Given the description of an element on the screen output the (x, y) to click on. 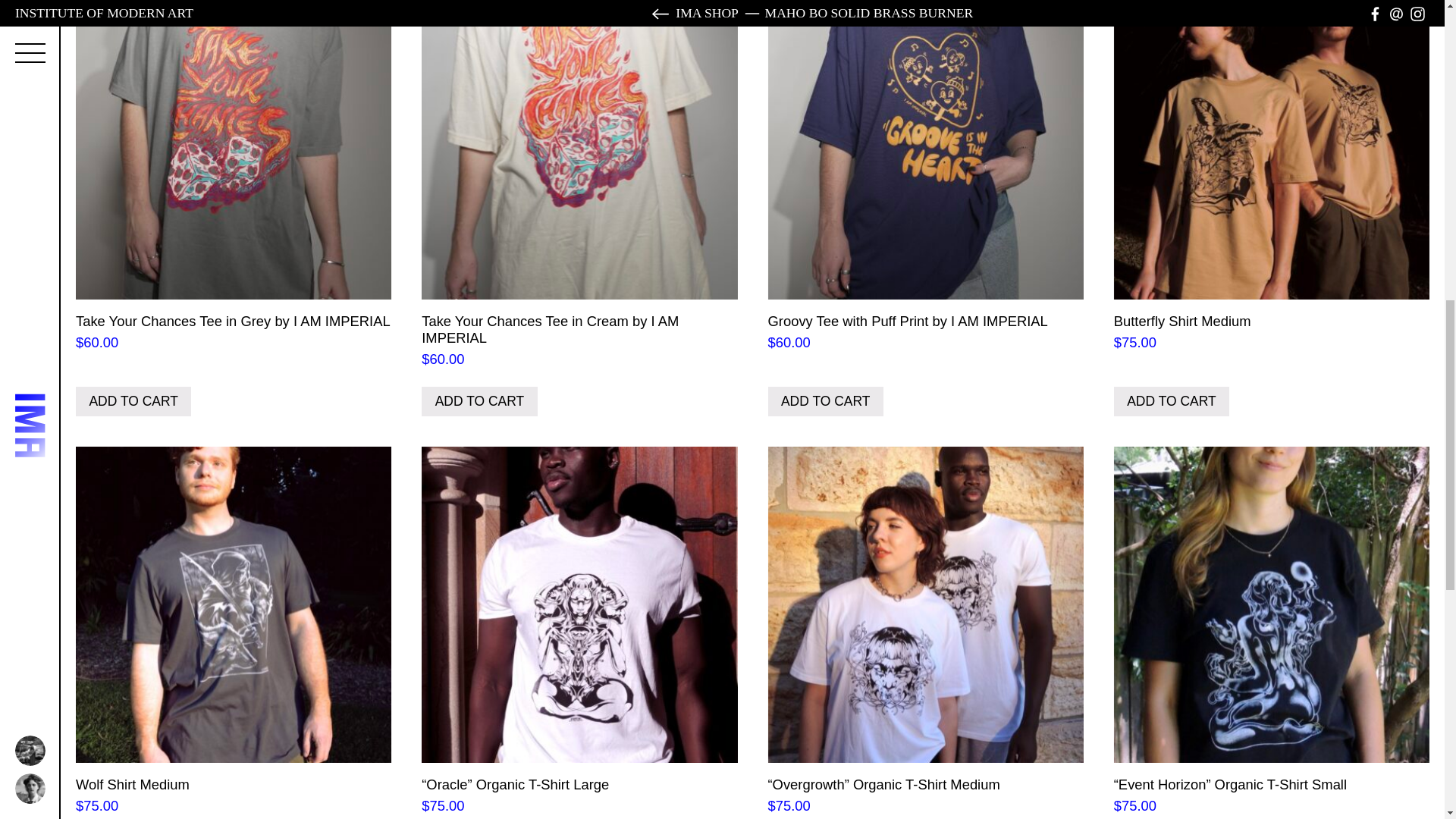
ADD TO CART (479, 401)
ADD TO CART (132, 401)
